Given the description of an element on the screen output the (x, y) to click on. 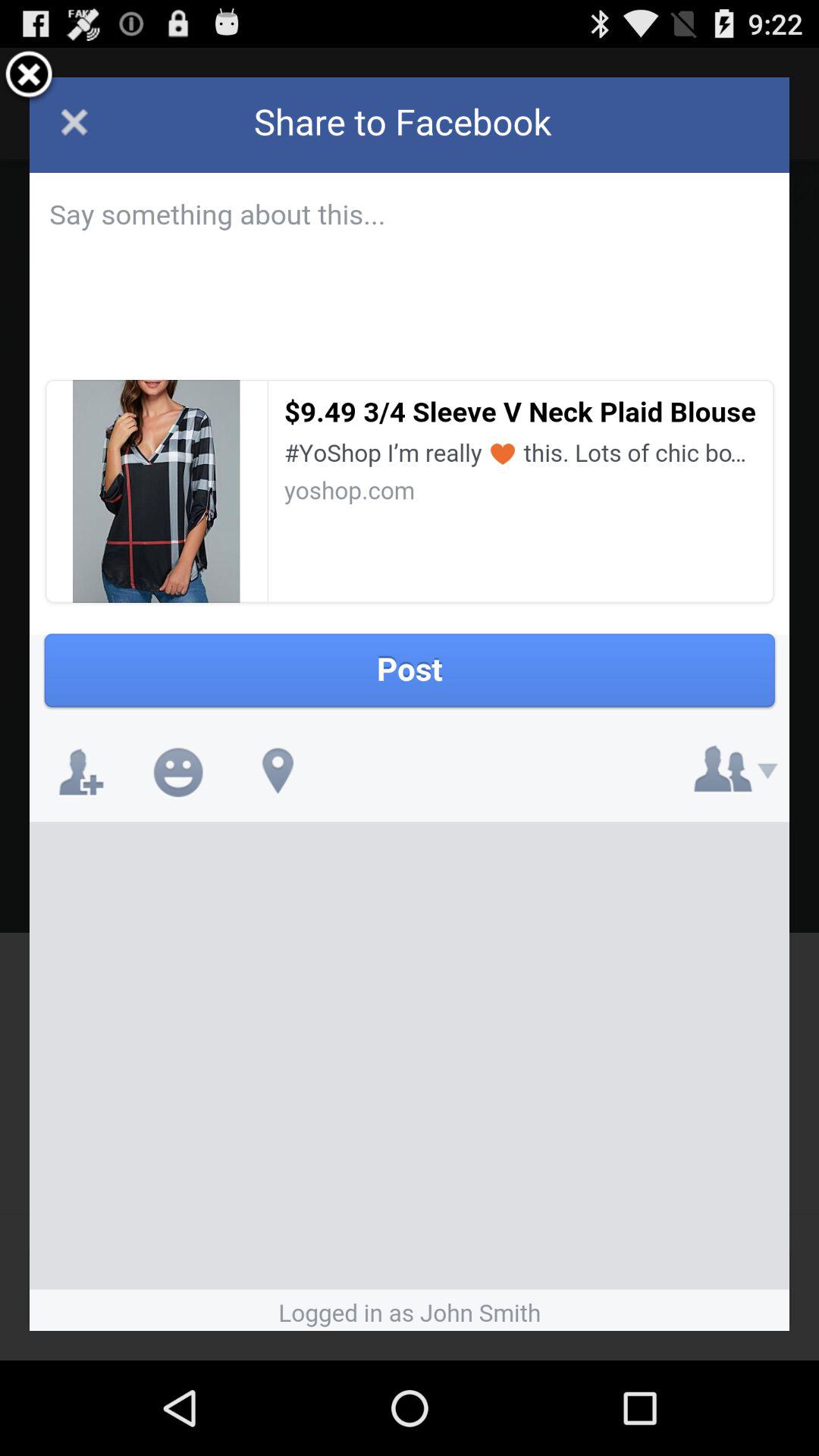
close button (29, 76)
